Given the description of an element on the screen output the (x, y) to click on. 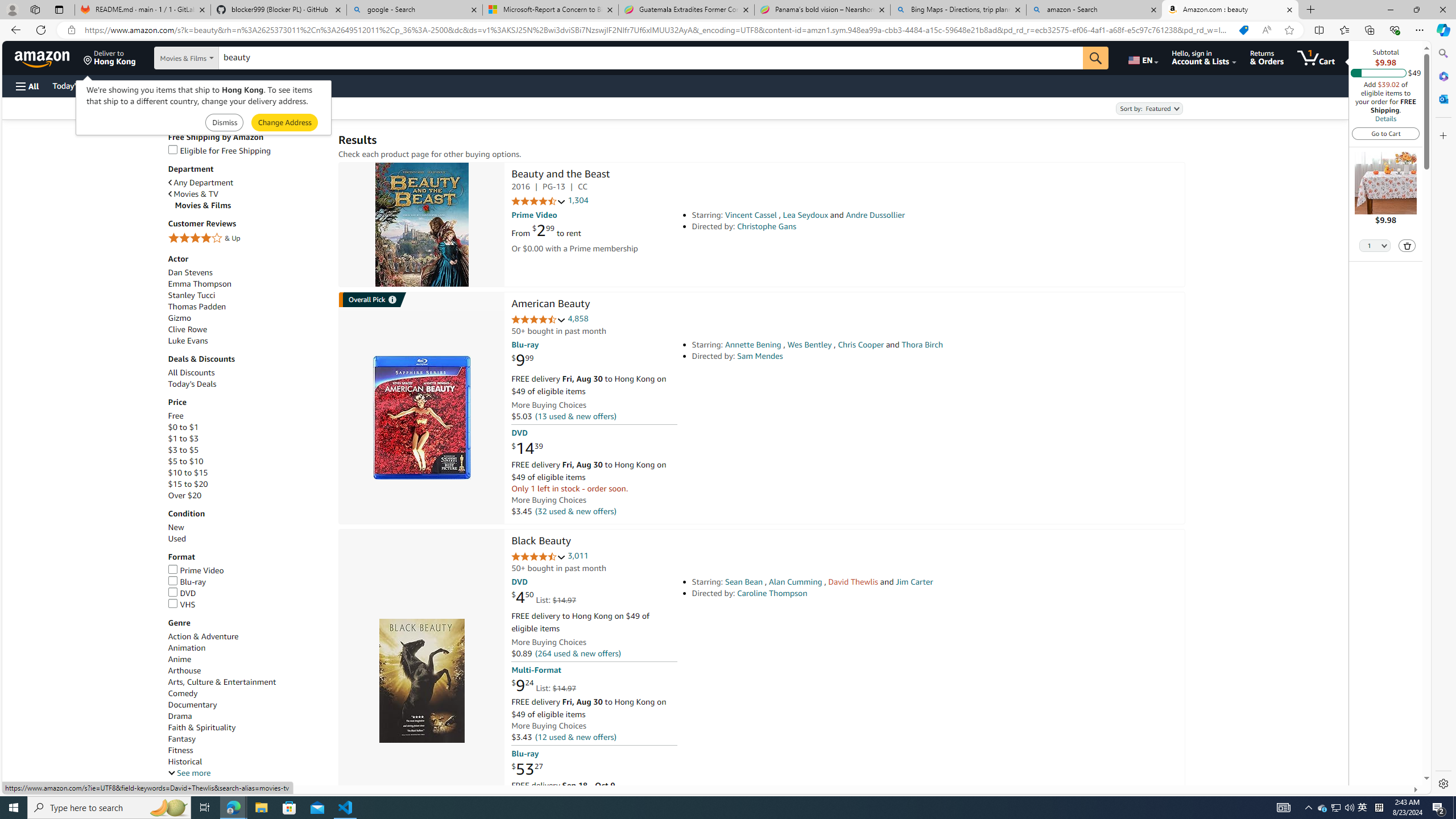
Thora Birch (922, 344)
$5 to $10 (185, 461)
(264 used & new offers) (577, 653)
$10 to $15 (247, 472)
Luke Evans (187, 340)
$53.27 (527, 768)
Fitness (180, 750)
New (247, 527)
Beauty and the Beast (560, 174)
Sort by: (1148, 108)
VHS (181, 604)
Search in (210, 58)
Quantity Selector (1374, 245)
